Given the description of an element on the screen output the (x, y) to click on. 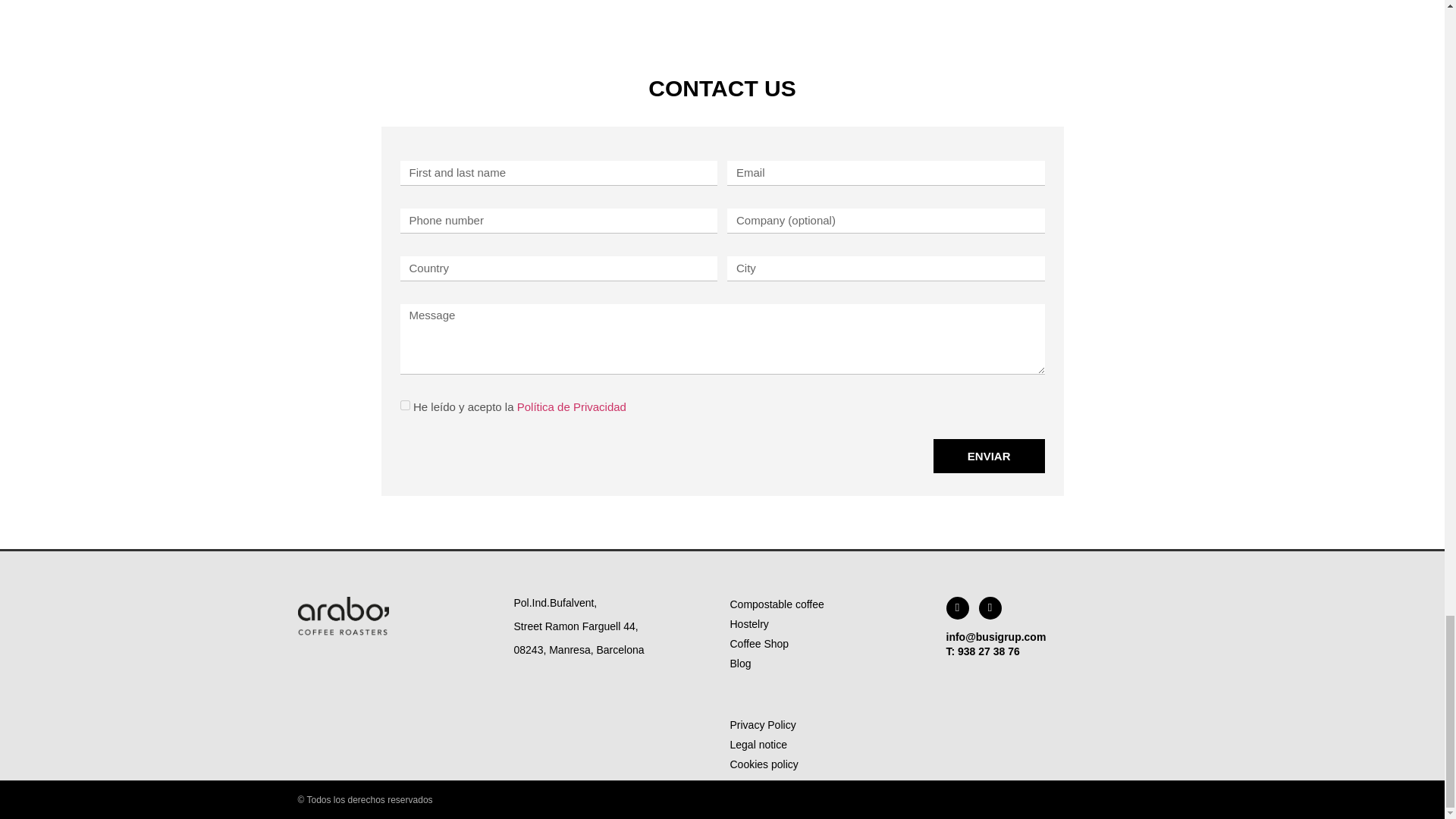
on (405, 405)
